Given the description of an element on the screen output the (x, y) to click on. 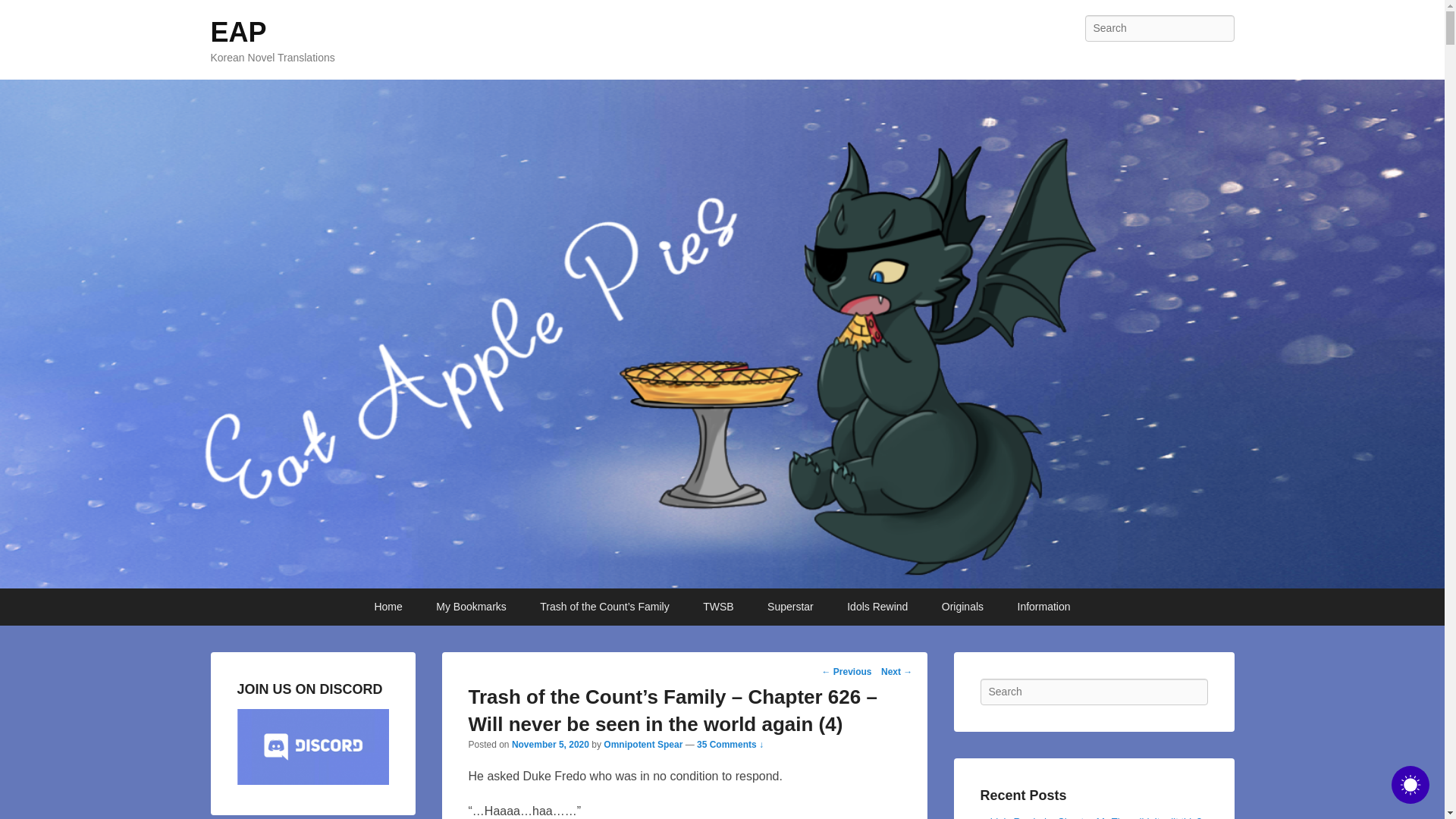
Search (24, 14)
My Bookmarks (470, 606)
Omnipotent Spear (643, 744)
View all posts by Omnipotent Spear (643, 744)
November 5, 2020 (550, 744)
Superstar (790, 606)
Information (1044, 606)
EAP (238, 31)
Originals (962, 606)
Home (387, 606)
8:31 am (550, 744)
EAP (238, 31)
Idols Rewind (877, 606)
TWSB (717, 606)
